Given the description of an element on the screen output the (x, y) to click on. 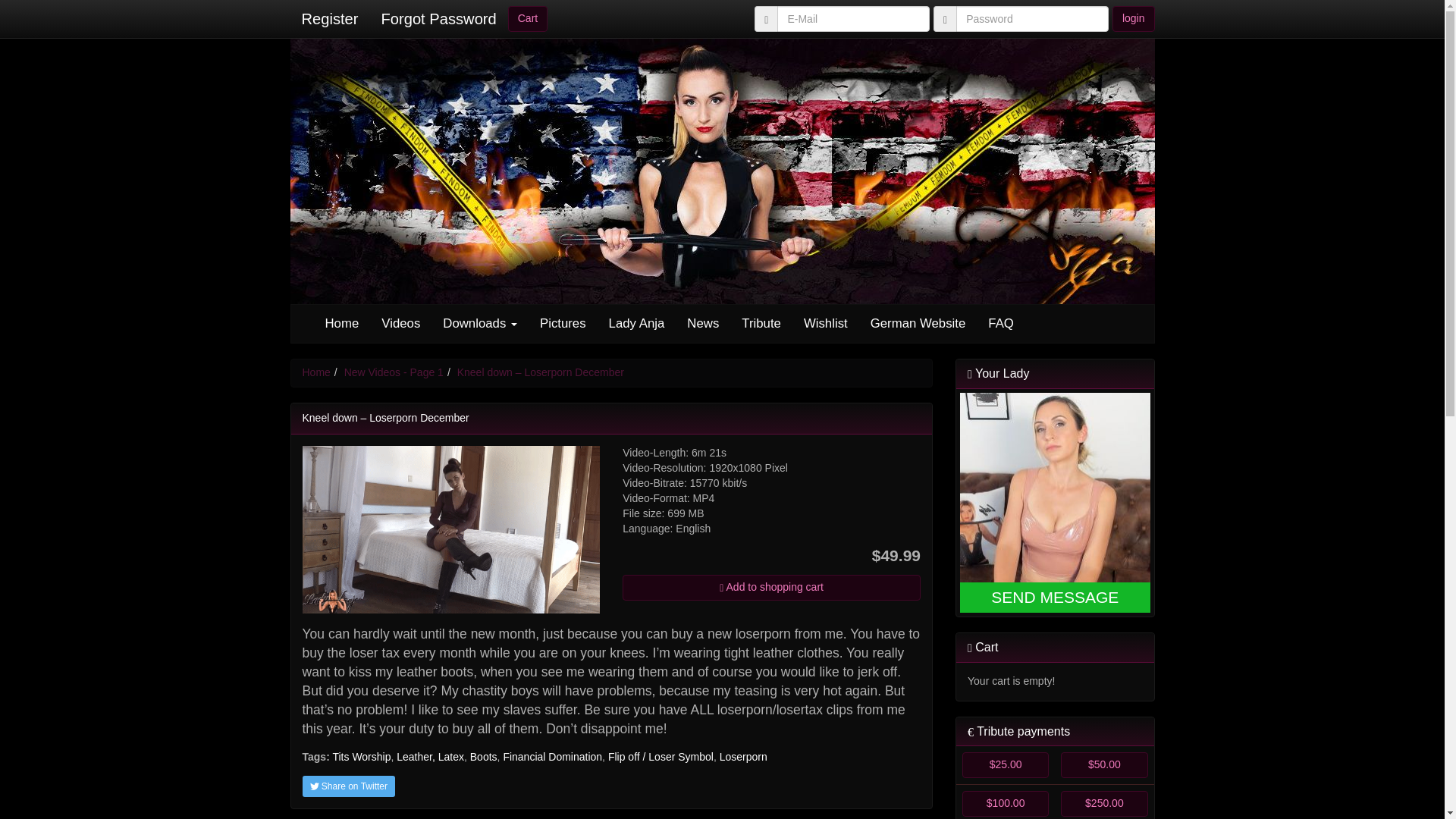
Boots (483, 756)
Loserporn (743, 756)
Tits Worship (360, 756)
Downloads (479, 323)
New Videos - Page 1 (393, 372)
Add to shopping cart (771, 587)
Leather, Latex (430, 756)
Videos (399, 323)
FAQ (1000, 323)
Forgot Password (438, 18)
